Given the description of an element on the screen output the (x, y) to click on. 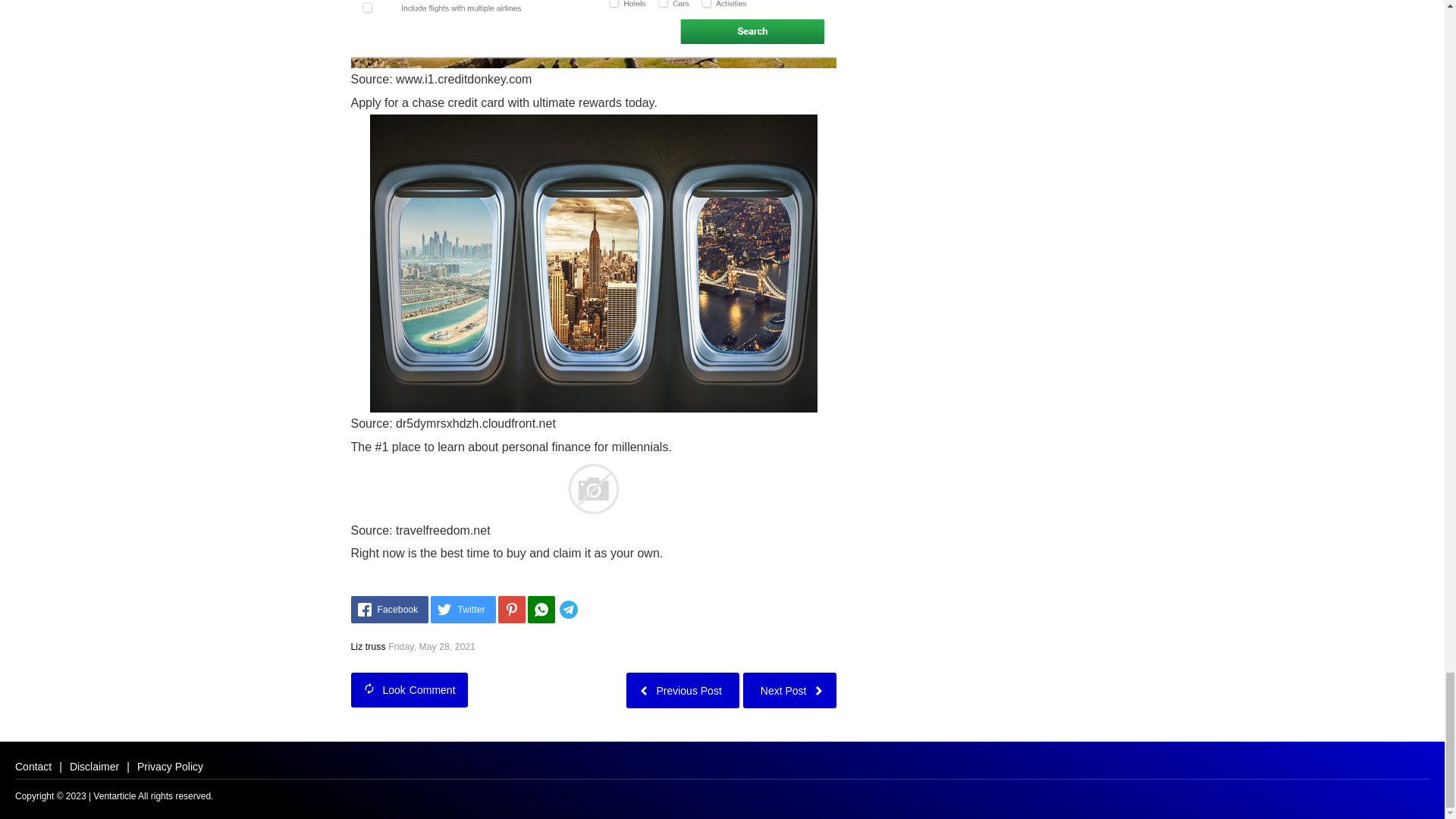
Share to Telegram (590, 609)
Twitter (462, 609)
author profile (367, 646)
Older Post (682, 690)
Telegram (590, 609)
Newer Post (788, 690)
Previous Post (682, 690)
Share on Pinterest (511, 609)
Next Post (788, 690)
Liz truss (367, 646)
Facebook (389, 609)
